Given the description of an element on the screen output the (x, y) to click on. 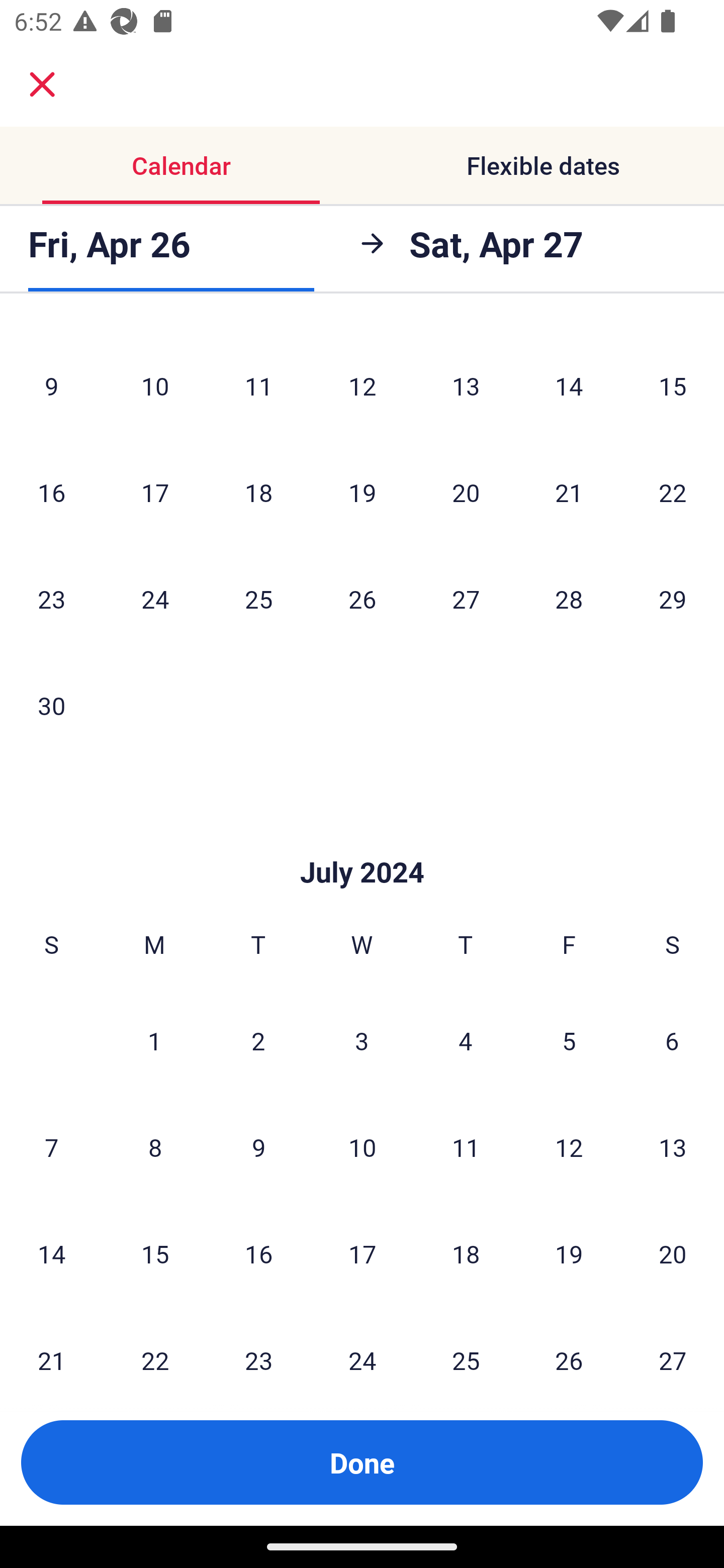
close. (42, 84)
Flexible dates (542, 164)
9 Sunday, June 9, 2024 (51, 385)
10 Monday, June 10, 2024 (155, 385)
11 Tuesday, June 11, 2024 (258, 385)
12 Wednesday, June 12, 2024 (362, 385)
13 Thursday, June 13, 2024 (465, 385)
14 Friday, June 14, 2024 (569, 385)
15 Saturday, June 15, 2024 (672, 385)
16 Sunday, June 16, 2024 (51, 492)
17 Monday, June 17, 2024 (155, 492)
18 Tuesday, June 18, 2024 (258, 492)
19 Wednesday, June 19, 2024 (362, 492)
20 Thursday, June 20, 2024 (465, 492)
21 Friday, June 21, 2024 (569, 492)
22 Saturday, June 22, 2024 (672, 492)
23 Sunday, June 23, 2024 (51, 598)
24 Monday, June 24, 2024 (155, 598)
25 Tuesday, June 25, 2024 (258, 598)
26 Wednesday, June 26, 2024 (362, 598)
27 Thursday, June 27, 2024 (465, 598)
28 Friday, June 28, 2024 (569, 598)
29 Saturday, June 29, 2024 (672, 598)
30 Sunday, June 30, 2024 (51, 705)
Skip to Done (362, 841)
1 Monday, July 1, 2024 (154, 1040)
2 Tuesday, July 2, 2024 (257, 1040)
3 Wednesday, July 3, 2024 (361, 1040)
4 Thursday, July 4, 2024 (465, 1040)
5 Friday, July 5, 2024 (568, 1040)
6 Saturday, July 6, 2024 (672, 1040)
7 Sunday, July 7, 2024 (51, 1146)
8 Monday, July 8, 2024 (155, 1146)
9 Tuesday, July 9, 2024 (258, 1146)
10 Wednesday, July 10, 2024 (362, 1146)
11 Thursday, July 11, 2024 (465, 1146)
12 Friday, July 12, 2024 (569, 1146)
13 Saturday, July 13, 2024 (672, 1146)
14 Sunday, July 14, 2024 (51, 1253)
15 Monday, July 15, 2024 (155, 1253)
16 Tuesday, July 16, 2024 (258, 1253)
17 Wednesday, July 17, 2024 (362, 1253)
18 Thursday, July 18, 2024 (465, 1253)
19 Friday, July 19, 2024 (569, 1253)
20 Saturday, July 20, 2024 (672, 1253)
21 Sunday, July 21, 2024 (51, 1343)
22 Monday, July 22, 2024 (155, 1343)
23 Tuesday, July 23, 2024 (258, 1343)
24 Wednesday, July 24, 2024 (362, 1343)
25 Thursday, July 25, 2024 (465, 1343)
26 Friday, July 26, 2024 (569, 1343)
27 Saturday, July 27, 2024 (672, 1343)
Done (361, 1462)
